Given the description of an element on the screen output the (x, y) to click on. 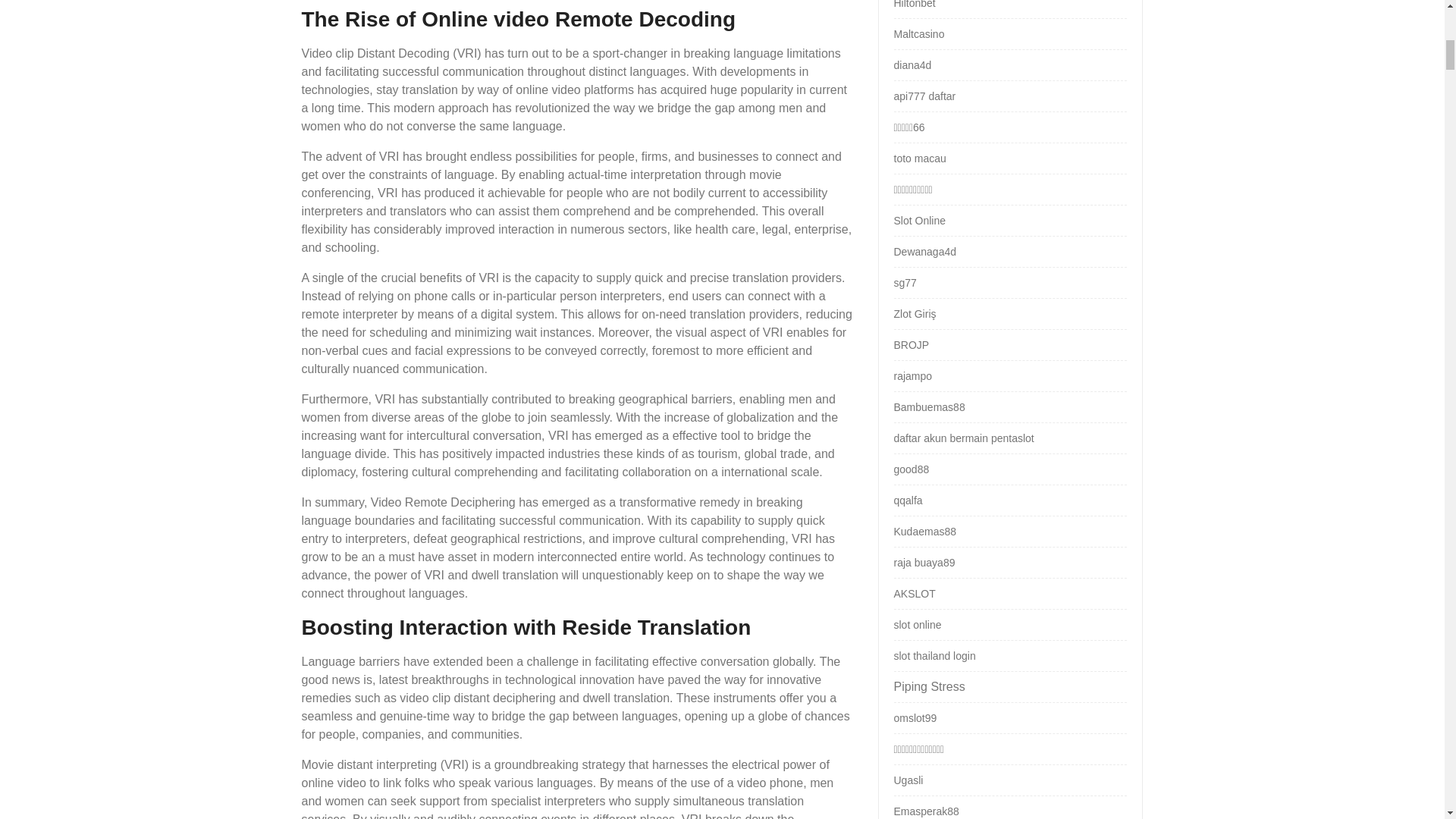
raja buaya89 (924, 562)
Slot Online (918, 220)
daftar akun bermain pentaslot (963, 438)
good88 (910, 469)
sg77 (904, 282)
toto macau (918, 158)
Bambuemas88 (928, 407)
Hiltonbet (913, 4)
BROJP (910, 345)
Kudaemas88 (924, 531)
